Given the description of an element on the screen output the (x, y) to click on. 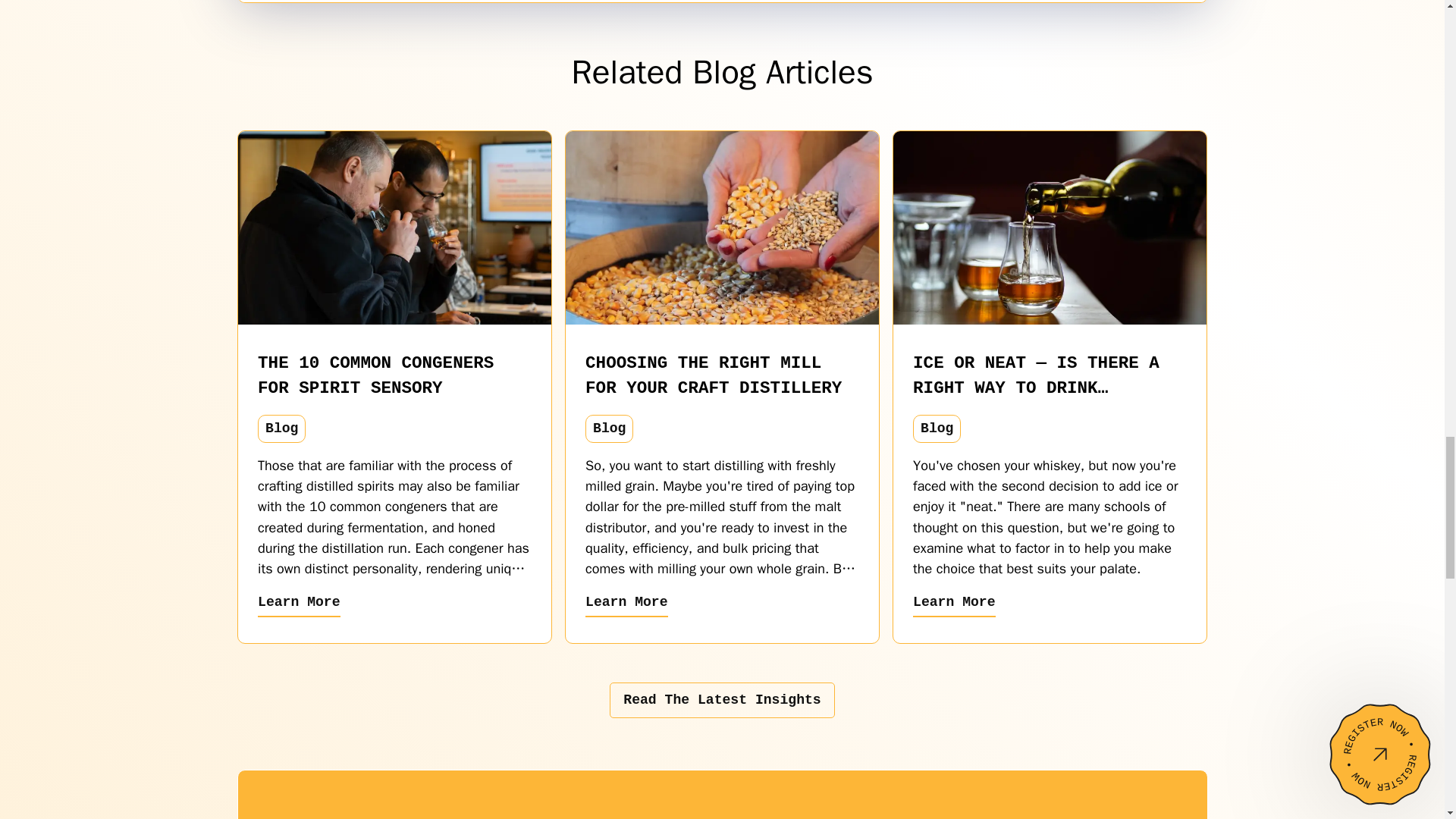
Read The Latest Insights (722, 700)
Learn More (626, 603)
Learn More (953, 604)
Learn More (298, 603)
